Given the description of an element on the screen output the (x, y) to click on. 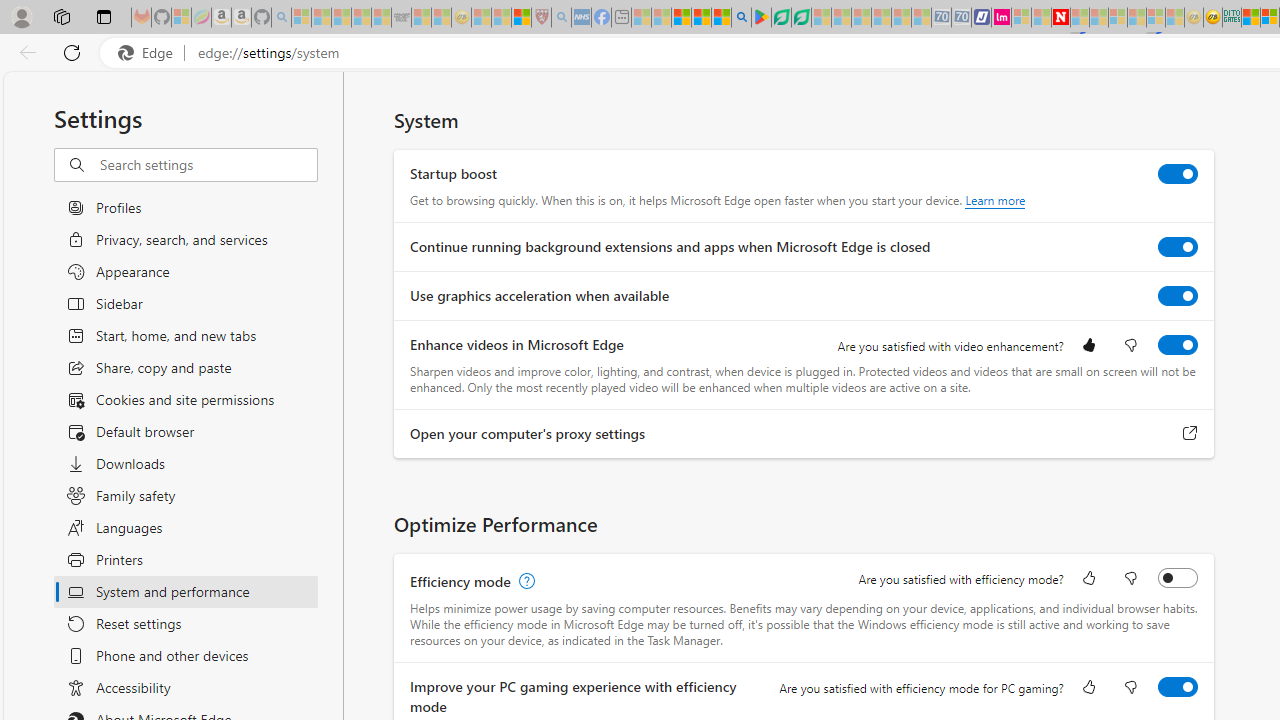
Local - MSN (521, 17)
Use graphics acceleration when available (1178, 295)
Search settings (207, 165)
Bluey: Let's Play! - Apps on Google Play (760, 17)
Efficiency mode, learn more (523, 582)
14 Common Myths Debunked By Scientific Facts - Sleeping (1099, 17)
Latest Politics News & Archive | Newsweek.com (1061, 17)
